Given the description of an element on the screen output the (x, y) to click on. 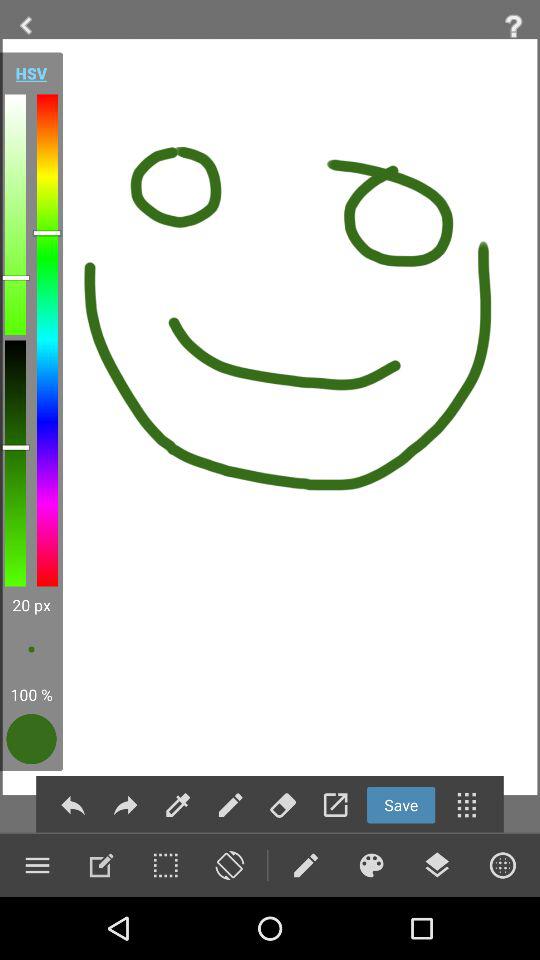
forward (125, 804)
